Given the description of an element on the screen output the (x, y) to click on. 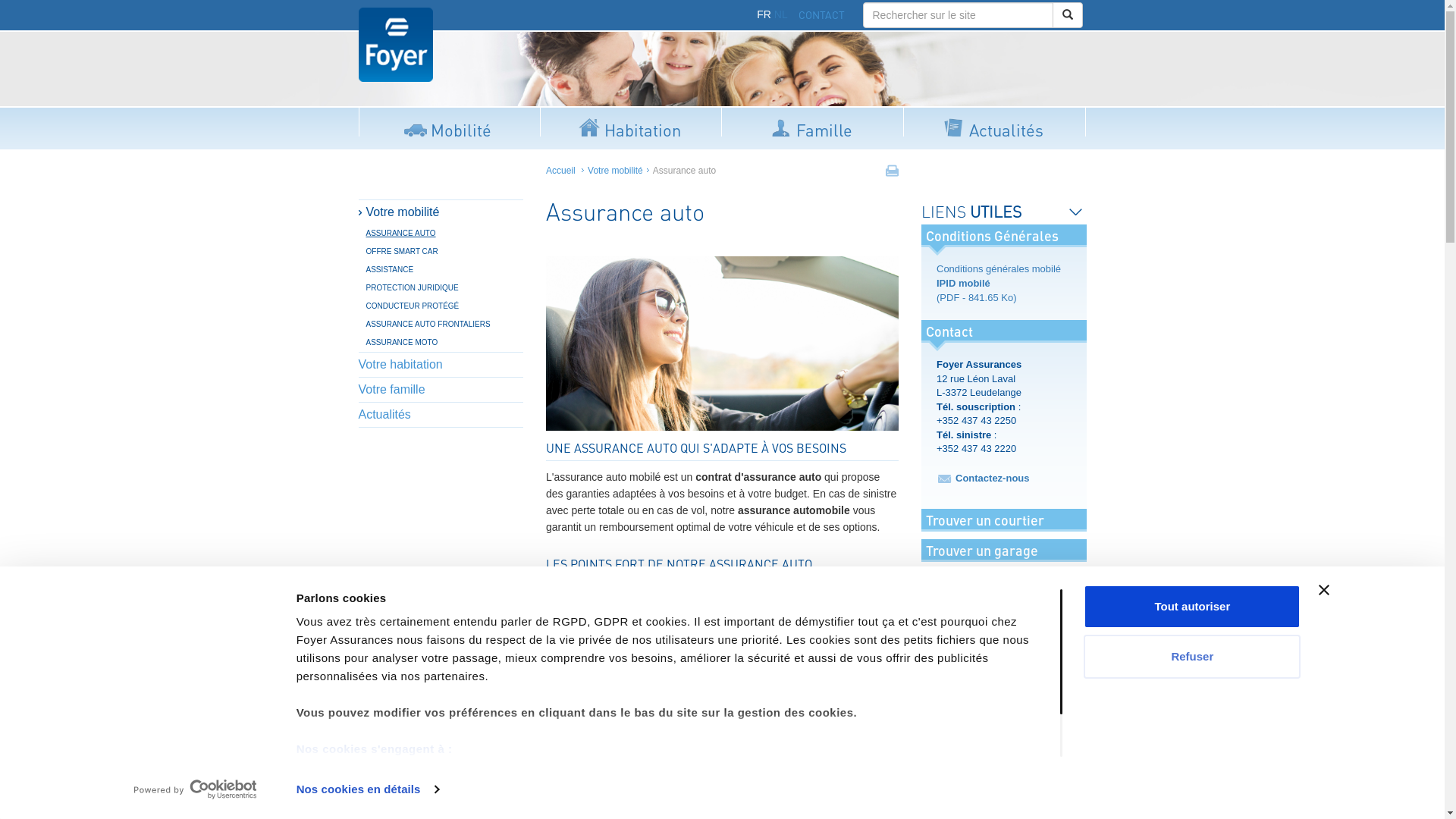
Assurance auto Element type: text (401, 51)
Contactez-nous Element type: text (992, 477)
Tout autoriser Element type: text (1191, 606)
ASSURANCE AUTO Element type: text (444, 233)
Votre habitation Element type: text (440, 364)
Votre famille Element type: text (440, 389)
Trouver un courtier Element type: text (984, 519)
ASSURANCE AUTO FRONTALIERS Element type: text (444, 324)
Habitation Element type: text (630, 127)
Rechercher Element type: hover (1067, 15)
Famille Element type: text (812, 127)
ASSISTANCE Element type: text (444, 269)
PROTECTION JURIDIQUE Element type: text (444, 288)
OFFRE SMART CAR Element type: text (444, 251)
Trouver un garage Element type: text (981, 550)
Refuser Element type: text (1191, 655)
CONTACT Element type: text (821, 15)
ASSURANCE MOTO Element type: text (444, 342)
Accueil Element type: text (560, 170)
NL Element type: text (780, 14)
